Given the description of an element on the screen output the (x, y) to click on. 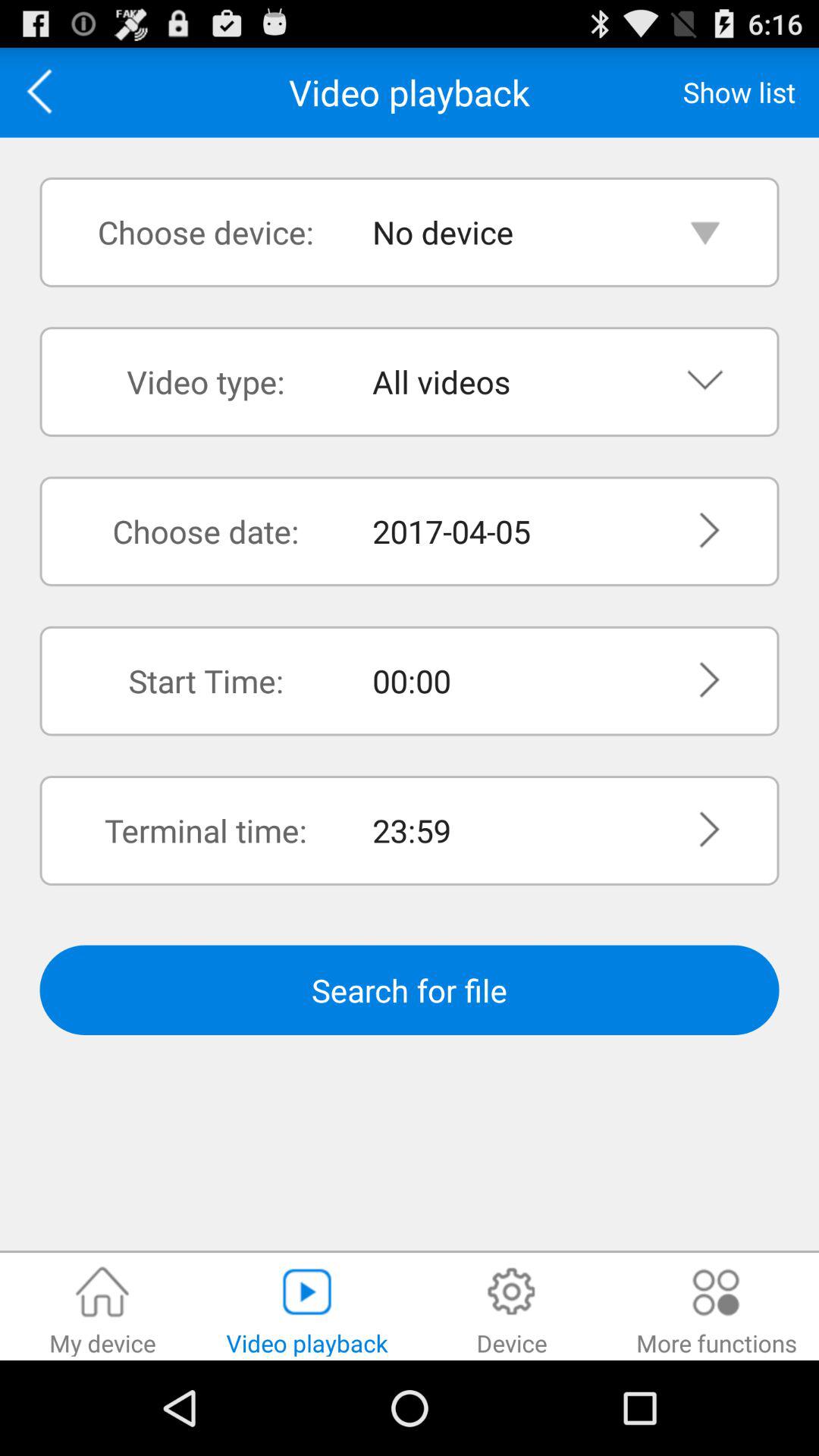
choose app to the right of video playback (739, 92)
